Given the description of an element on the screen output the (x, y) to click on. 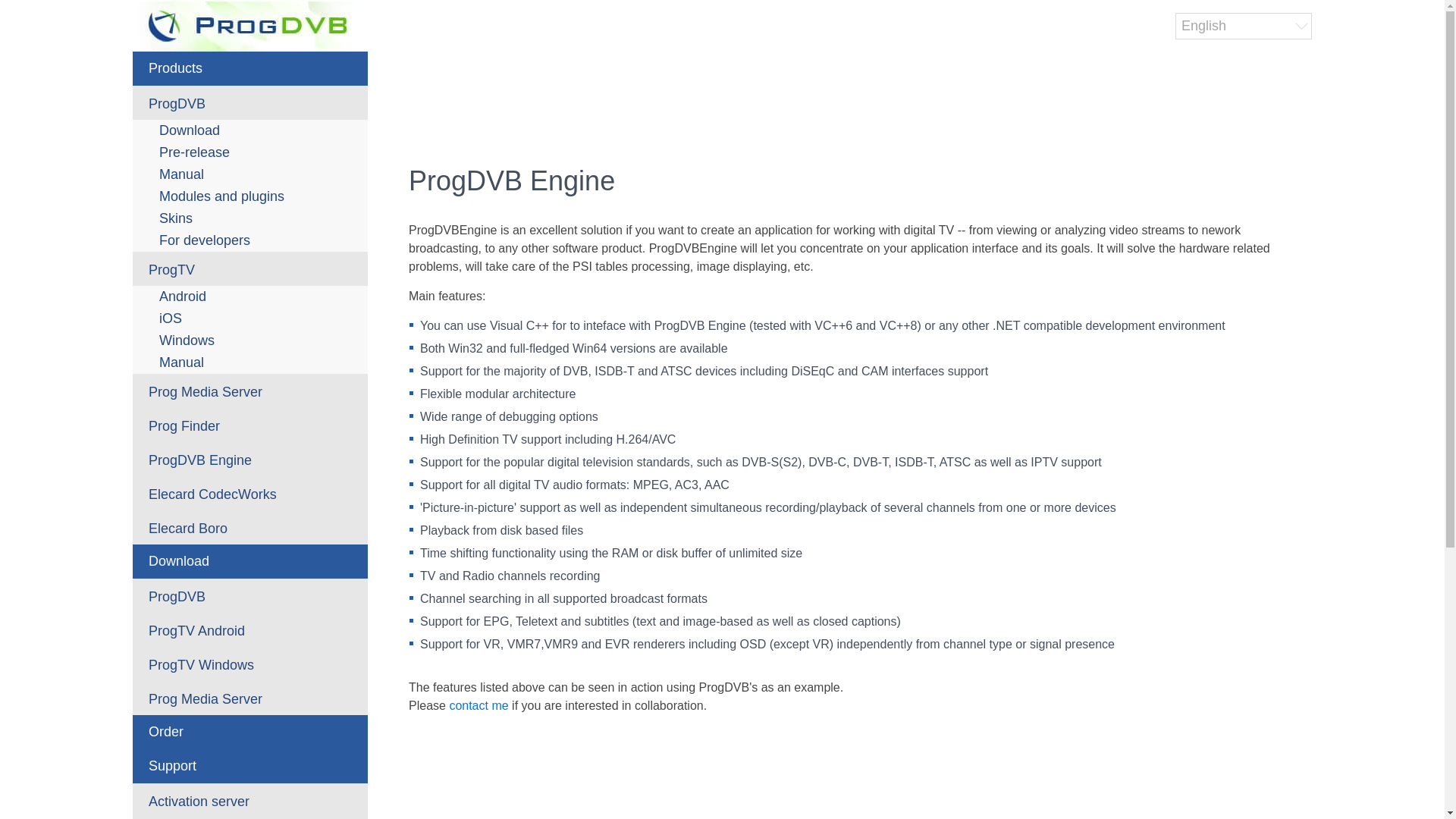
iOS (250, 318)
Products (250, 68)
Download (250, 130)
Modules and plugins (250, 196)
ProgDVB Engine (250, 458)
For developers (250, 240)
Prog Media Server (250, 390)
Pre-release (250, 152)
Windows (250, 341)
Elecard CodecWorks (250, 492)
Manual (250, 174)
Prog Finder (250, 424)
Android (250, 296)
ProgTV (250, 268)
